Given the description of an element on the screen output the (x, y) to click on. 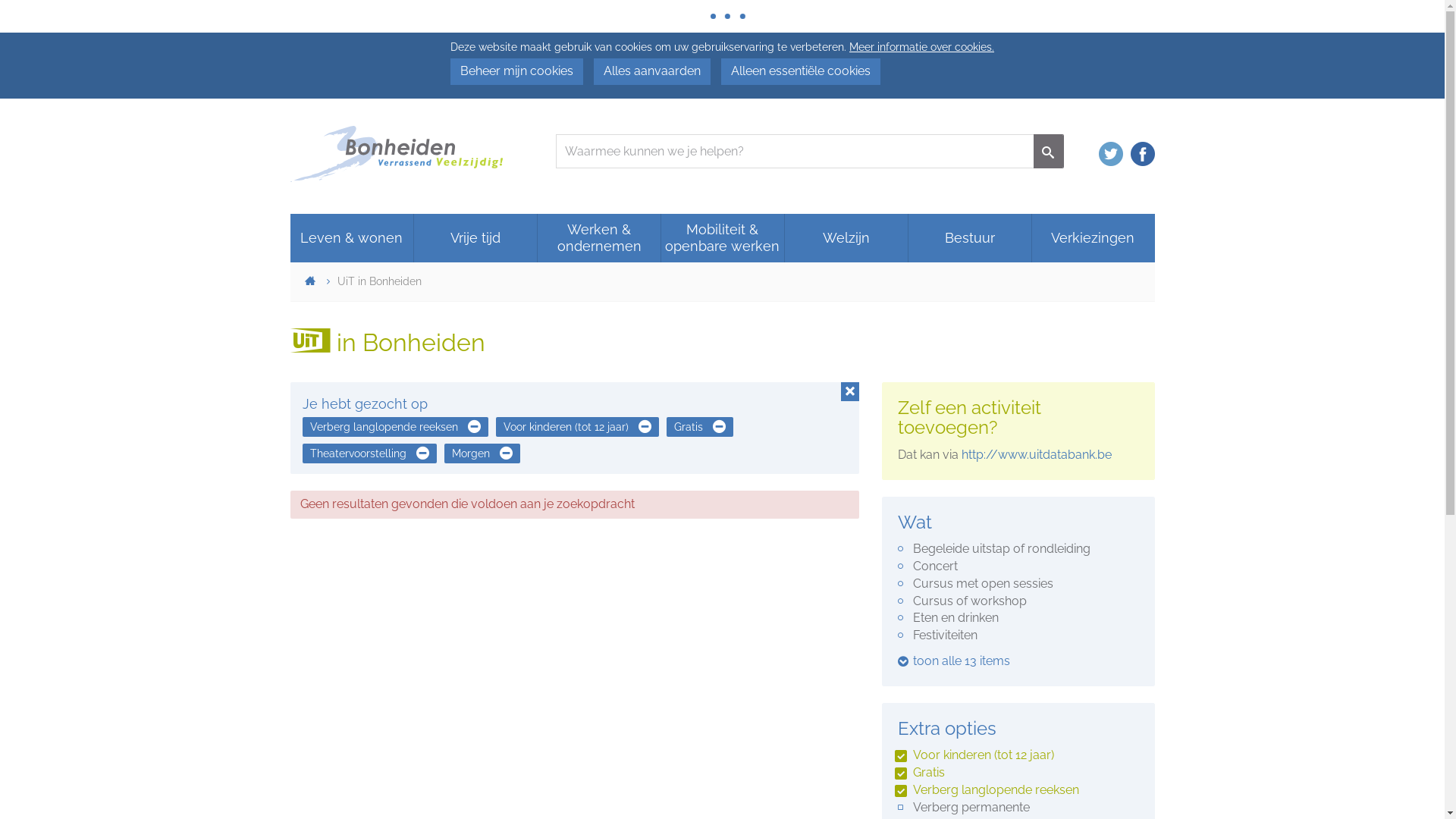
Home Element type: text (310, 281)
Festiviteiten Element type: text (1018, 635)
Begeleide uitstap of rondleiding Element type: text (1018, 549)
Verwijder filter Element type: text (638, 426)
Gratis Element type: text (1018, 772)
Verberg langlopende reeksen Element type: text (1018, 790)
Cursus of workshop Element type: text (1018, 601)
Verwijder filter Element type: text (500, 453)
Leven & wonen Element type: text (351, 237)
Alle filters verwijderen Element type: text (849, 391)
Cursus met open sessies Element type: text (1018, 584)
Twitter Element type: text (1110, 158)
Welzijn Element type: text (845, 237)
Facebook Element type: text (1141, 158)
Meer informatie over cookies. Element type: text (921, 46)
http://www.uitdatabank.be Element type: text (1036, 454)
Werken & ondernemen Element type: text (598, 237)
toon alle 13 items Element type: text (953, 660)
Verwijder filter Element type: text (713, 426)
Concert Element type: text (1018, 566)
Verwijder filter Element type: text (417, 453)
Bestuur Element type: text (969, 237)
Waarmee kunnen we je helpen? Element type: hover (793, 151)
Vrije tijd Element type: text (475, 237)
Mobiliteit & openbare werken Element type: text (722, 237)
Zoeken Element type: hover (1047, 151)
Alles aanvaarden Element type: text (651, 71)
Voor kinderen (tot 12 jaar) Element type: text (1018, 755)
Gemeente Bonheiden Element type: text (395, 155)
Eten en drinken Element type: text (1018, 618)
Beheer mijn cookies Element type: text (516, 71)
Verwijder filter Element type: text (469, 426)
Verkiezingen Element type: text (1093, 237)
